Given the description of an element on the screen output the (x, y) to click on. 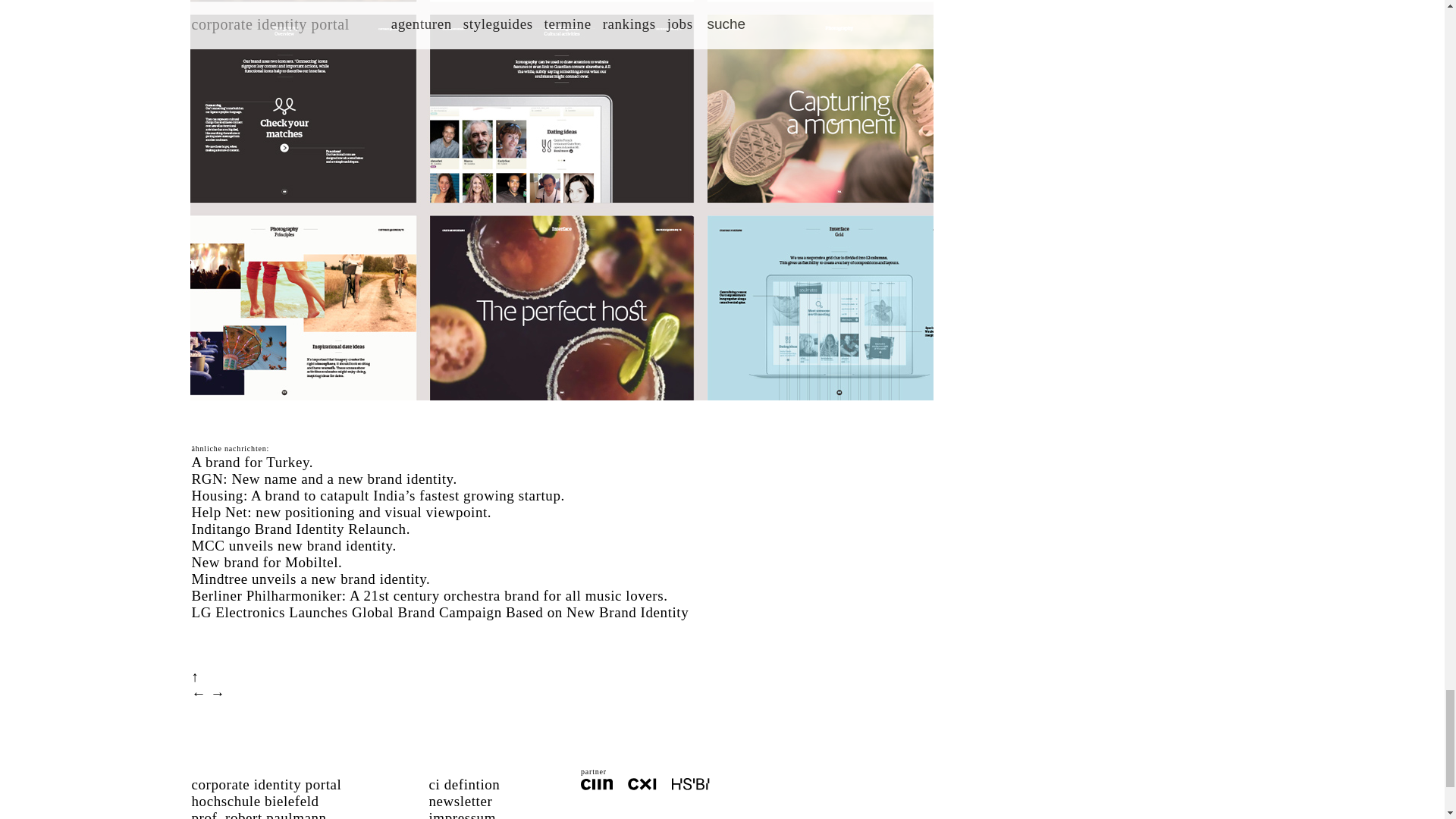
A brand for Turkey. (251, 462)
RGN: New name and a new brand identity. (323, 478)
New brand for Mobiltel. (266, 562)
New brand for Mobiltel. (266, 562)
RGN: New name and a new brand identity. (323, 478)
Help Net: new positioning and visual viewpoint. (341, 512)
MCC unveils new brand identity. (293, 545)
MCC unveils new brand identity. (293, 545)
impressum (462, 814)
